Given the description of an element on the screen output the (x, y) to click on. 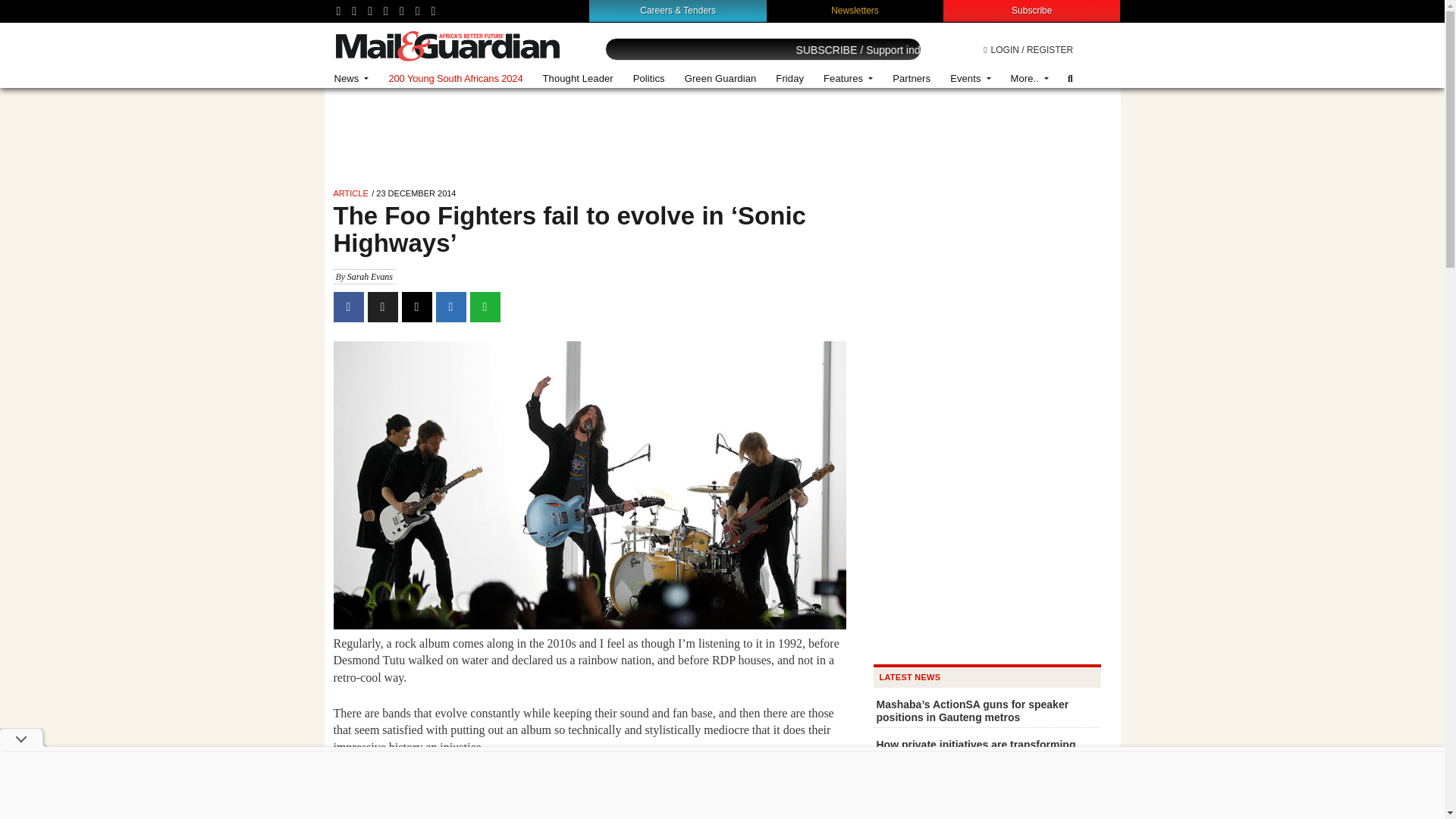
Thought Leader (577, 78)
Politics (649, 78)
Subscribe (1031, 9)
News (351, 78)
Friday (789, 78)
News (351, 78)
200 Young South Africans 2024 (455, 78)
Newsletters (855, 9)
Green Guardian (721, 78)
